Given the description of an element on the screen output the (x, y) to click on. 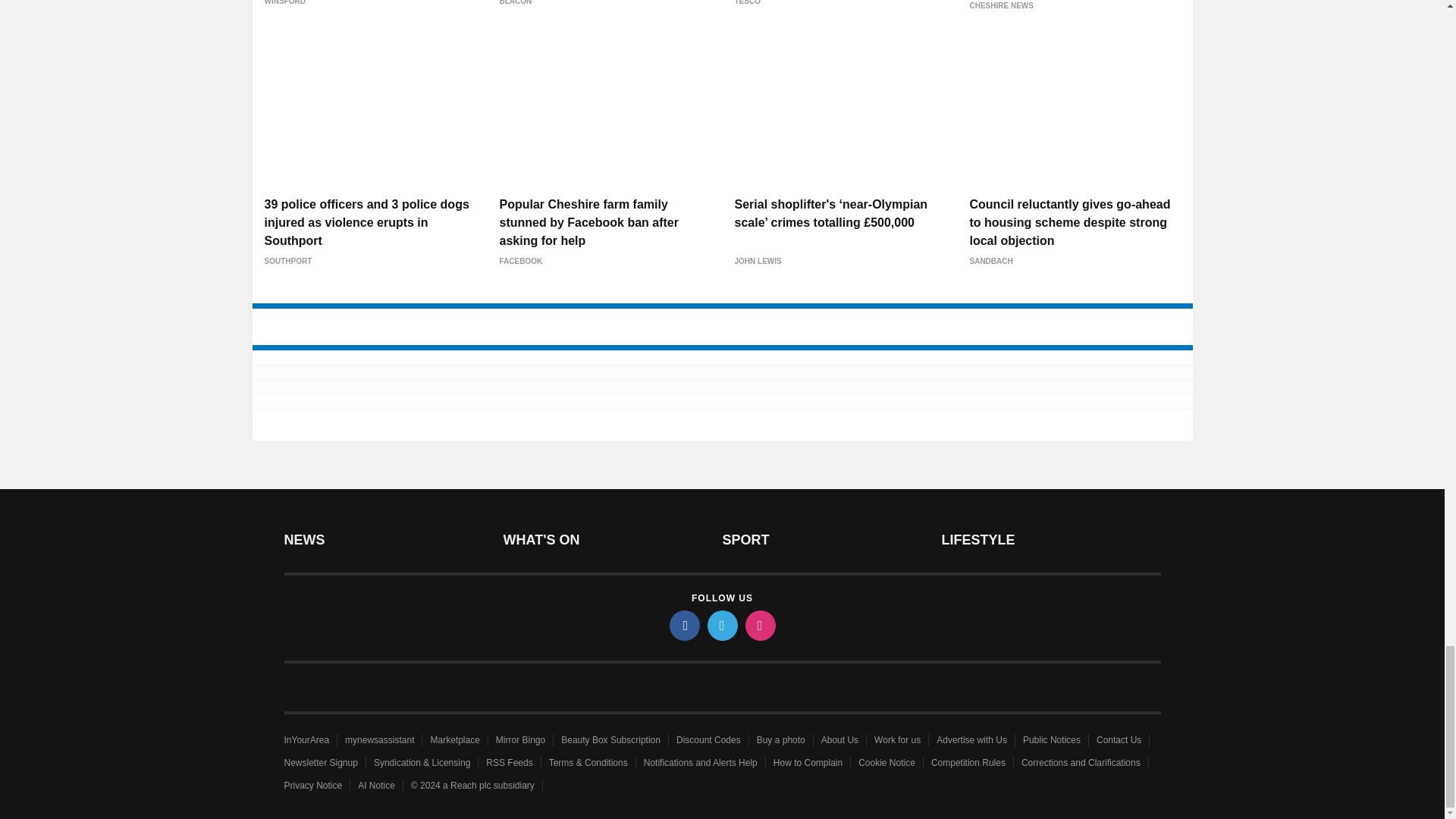
twitter (721, 625)
instagram (759, 625)
facebook (683, 625)
